Given the description of an element on the screen output the (x, y) to click on. 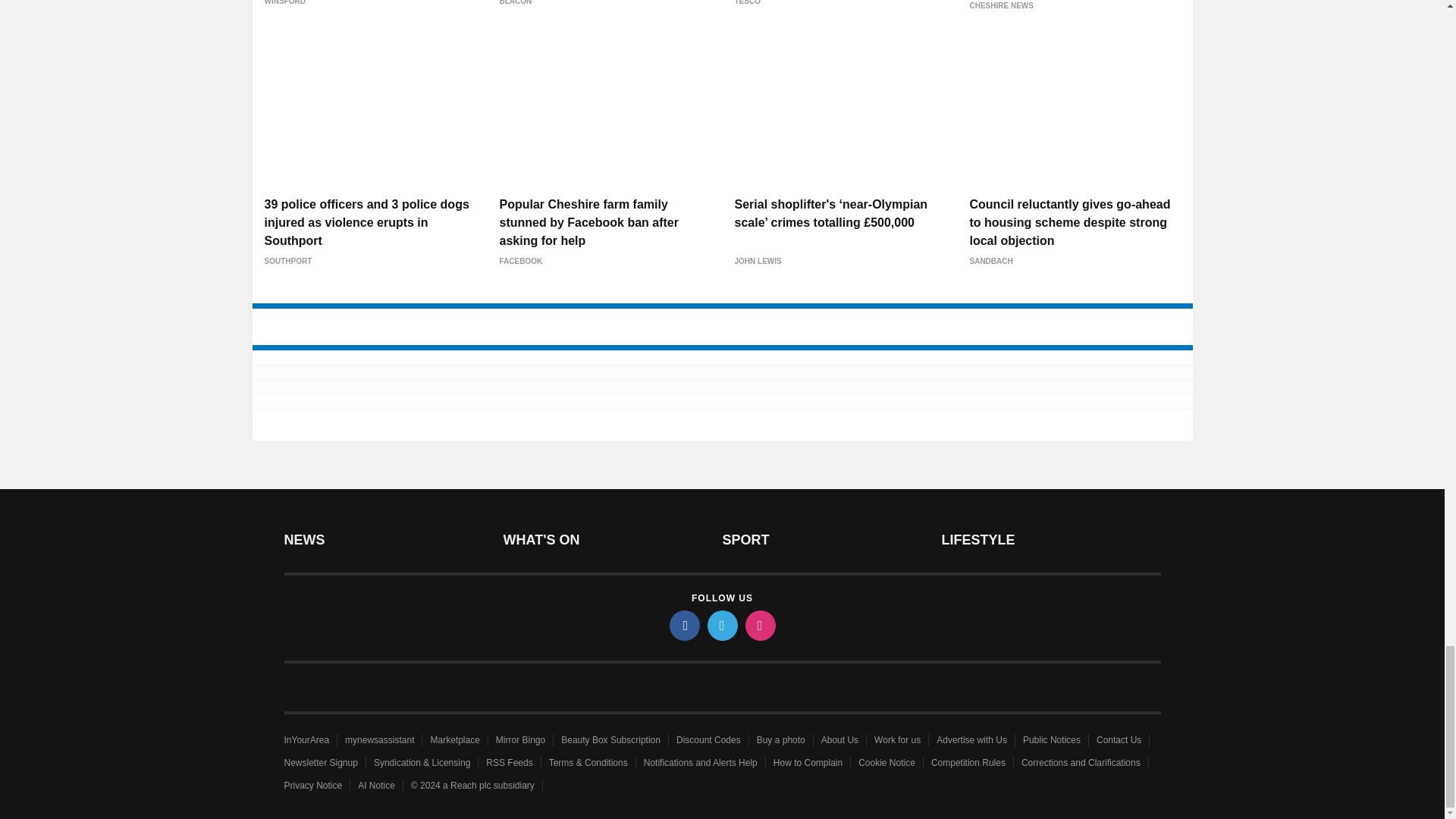
twitter (721, 625)
instagram (759, 625)
facebook (683, 625)
